Given the description of an element on the screen output the (x, y) to click on. 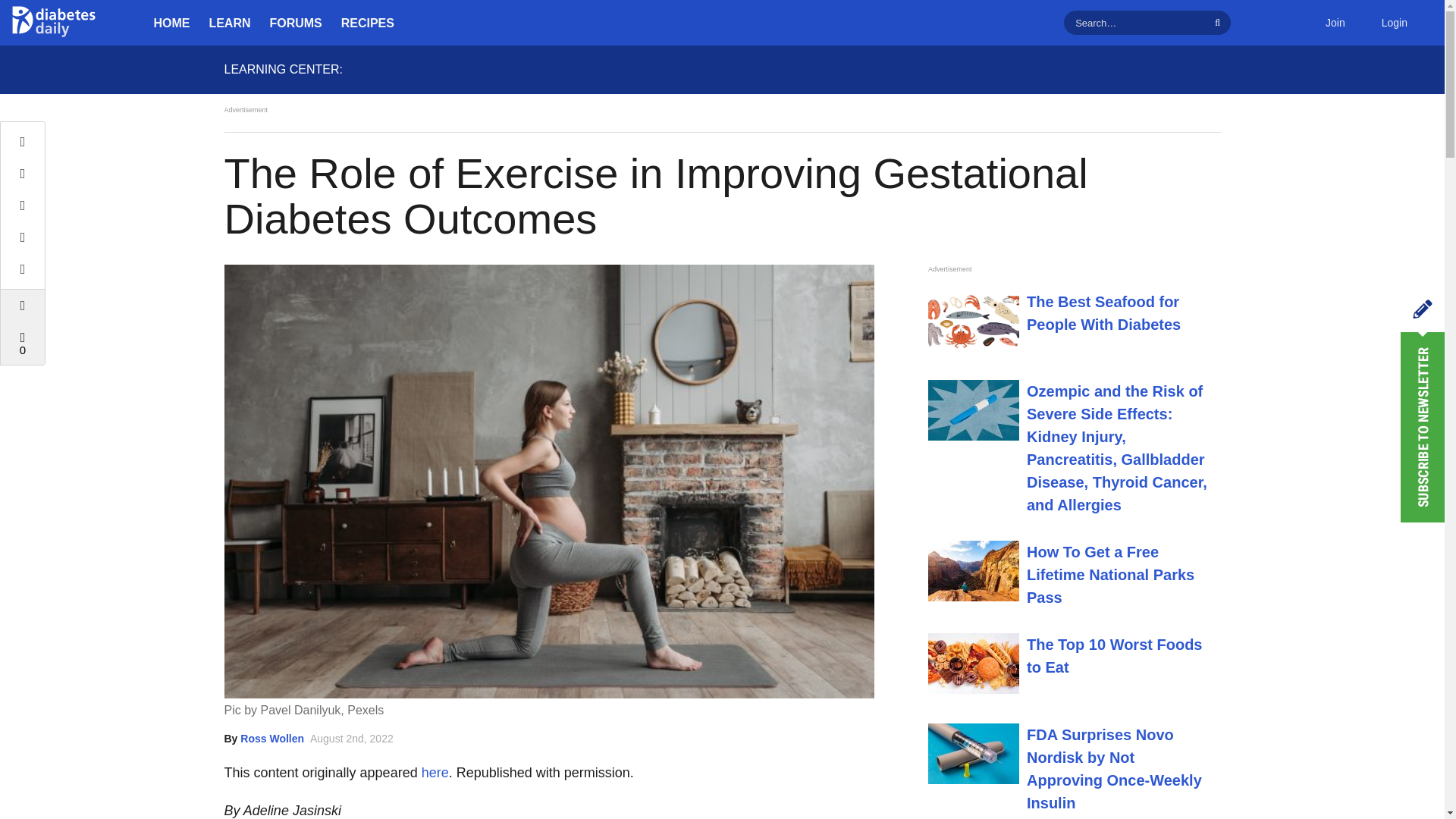
LEARN (229, 22)
FORUMS (295, 22)
RECIPES (367, 22)
Join (1334, 22)
HOME (171, 22)
Login (1393, 22)
